Given the description of an element on the screen output the (x, y) to click on. 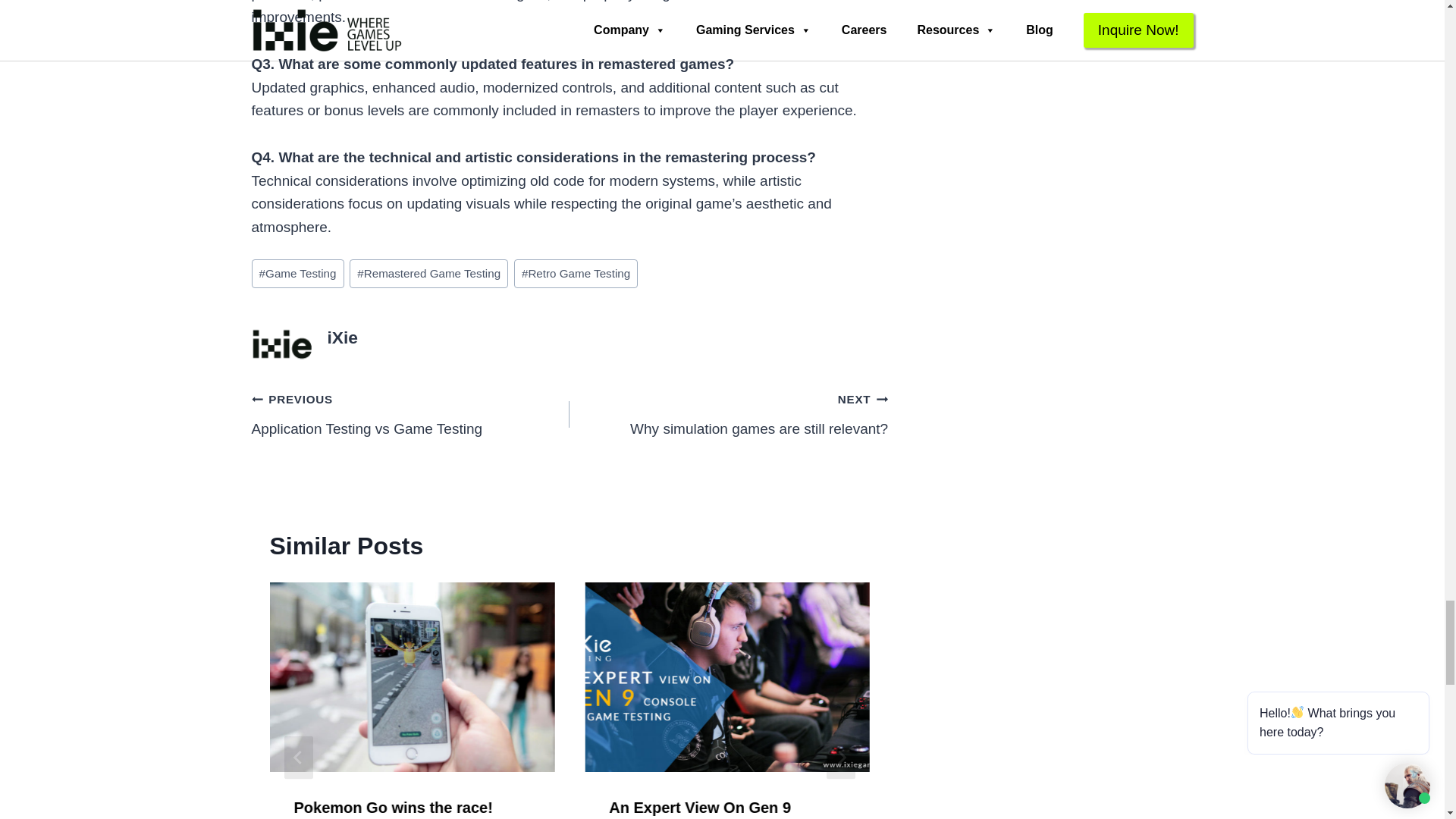
Game Testing (297, 273)
Posts by iXie (342, 337)
Retro Game Testing (575, 273)
Remastered Game Testing (428, 273)
